Given the description of an element on the screen output the (x, y) to click on. 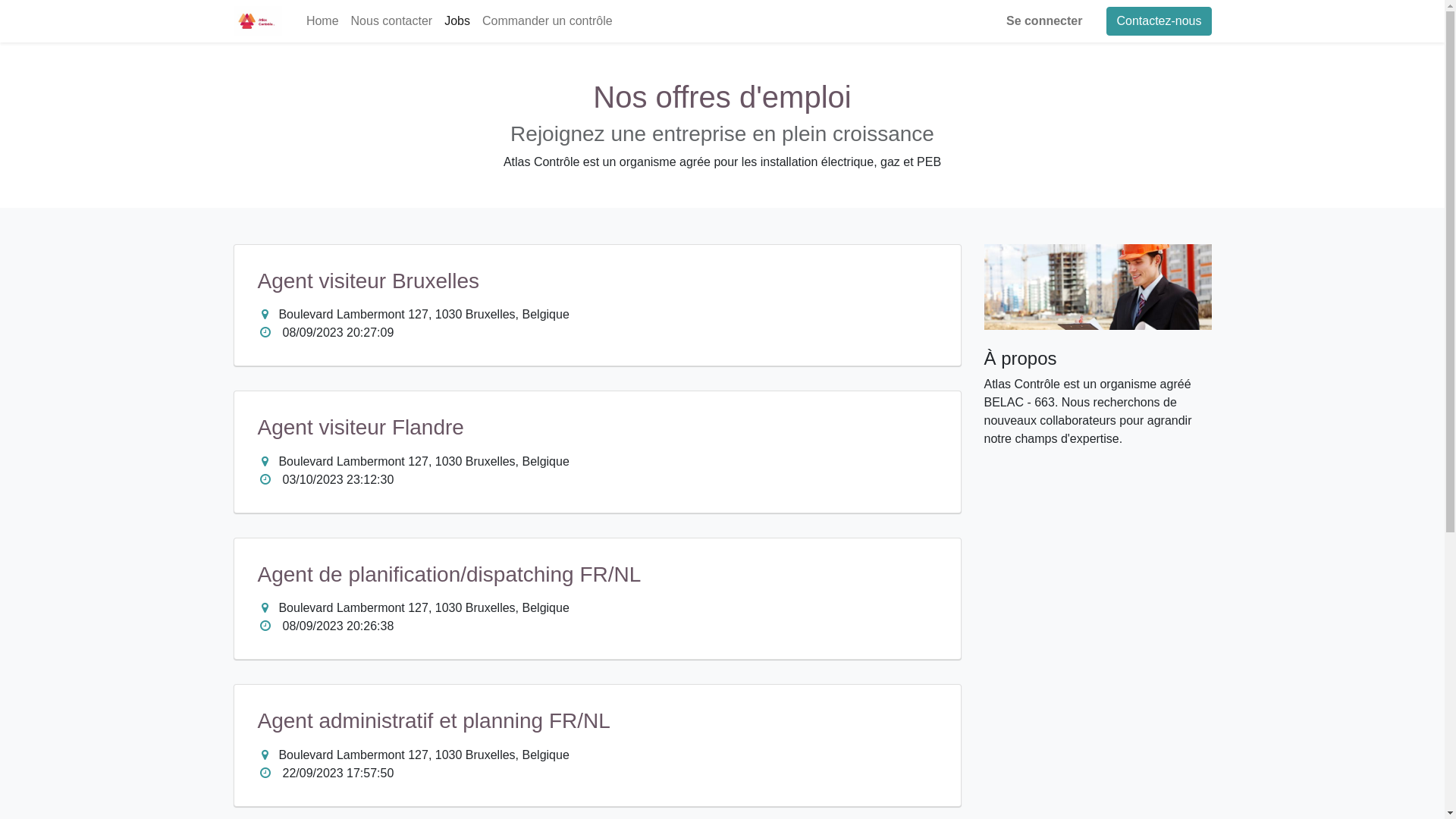
Date de publication Element type: hover (265, 772)
Date de publication Element type: hover (265, 625)
Home Element type: text (322, 21)
Adresse Element type: hover (265, 607)
Adresse Element type: hover (265, 461)
Se connecter Element type: text (1044, 21)
Date de publication Element type: hover (265, 332)
Date de publication Element type: hover (265, 479)
Adresse Element type: hover (265, 754)
Adresse Element type: hover (265, 313)
Nous contacter Element type: text (392, 21)
Atlas Controle Element type: hover (257, 21)
Jobs Element type: text (457, 21)
Contactez-nous Element type: text (1158, 20)
